Given the description of an element on the screen output the (x, y) to click on. 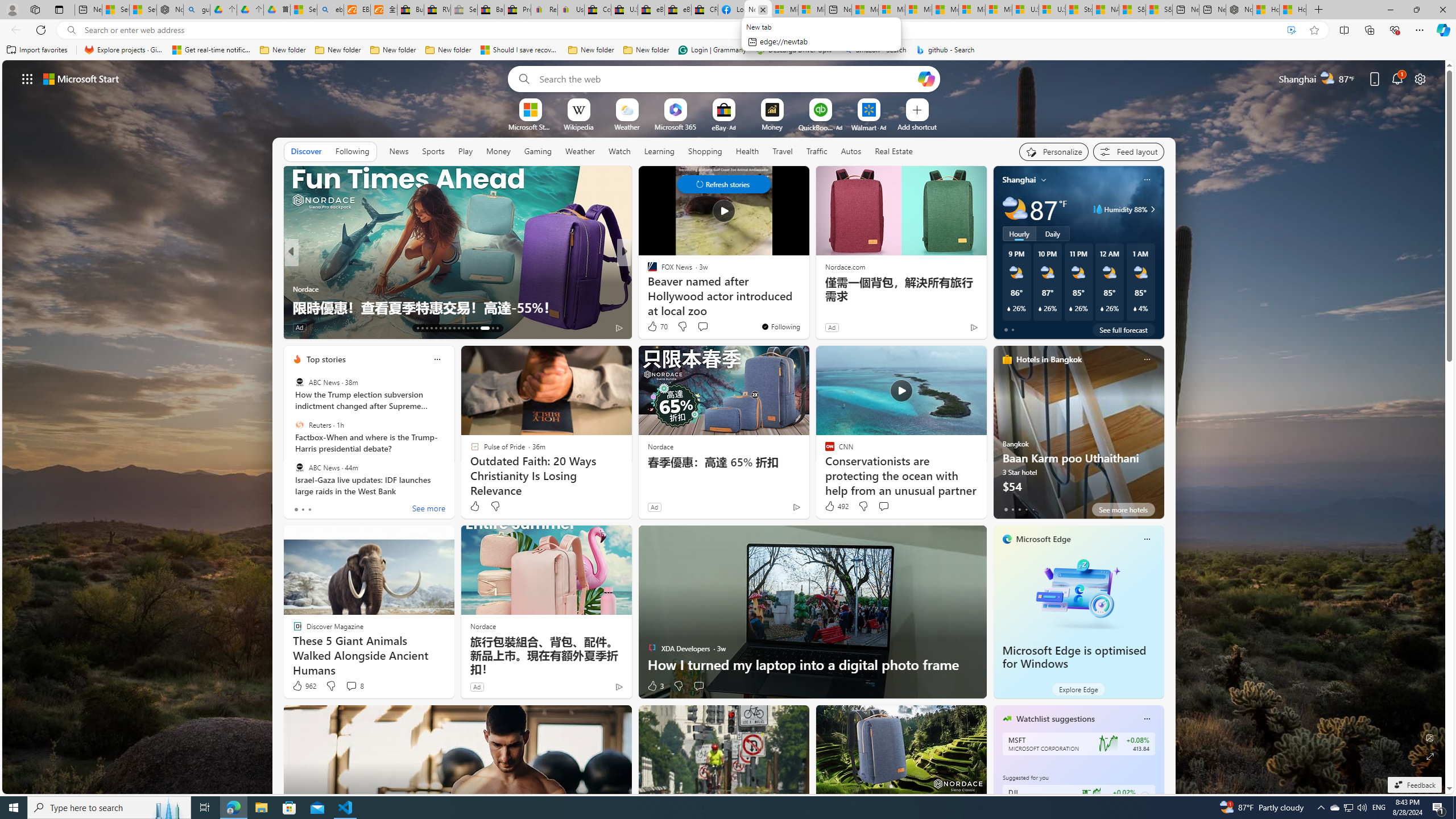
Descarga Driver Updater (794, 49)
eBay Inc. Reports Third Quarter 2023 Results (677, 9)
AutomationID: backgroundImagePicture (723, 426)
Start the conversation (698, 685)
New folder (646, 49)
tab-4 (1032, 509)
AutomationID: tab-24 (467, 328)
Microsoft start (81, 78)
Traffic (816, 151)
News (398, 151)
